Given the description of an element on the screen output the (x, y) to click on. 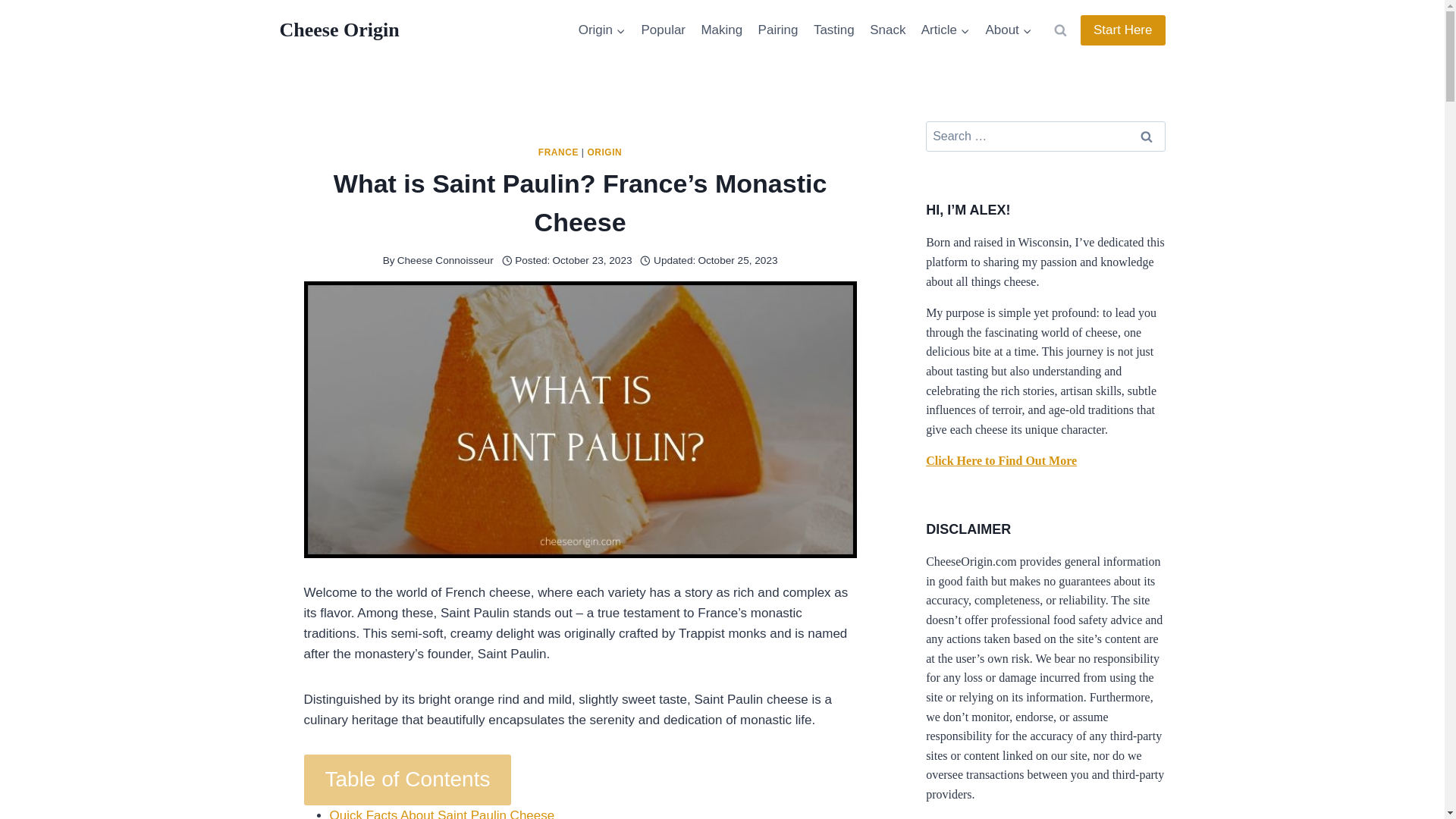
Tasting (833, 30)
Popular (663, 30)
Origin (601, 30)
Snack (887, 30)
Search (1145, 136)
Making (721, 30)
Start Here (1122, 30)
Pairing (777, 30)
Search (1145, 136)
Article (946, 30)
Cheese Origin (338, 29)
About (1007, 30)
